Given the description of an element on the screen output the (x, y) to click on. 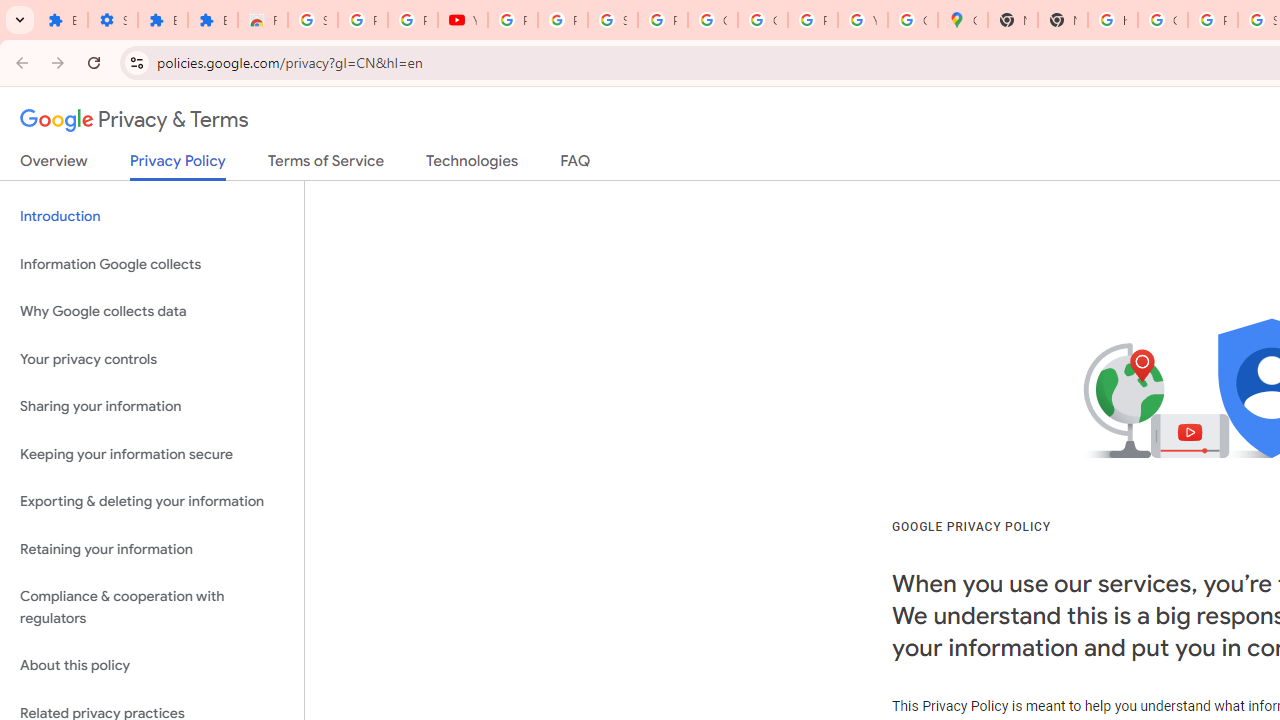
New Tab (1013, 20)
Extensions (213, 20)
Extensions (163, 20)
